Given the description of an element on the screen output the (x, y) to click on. 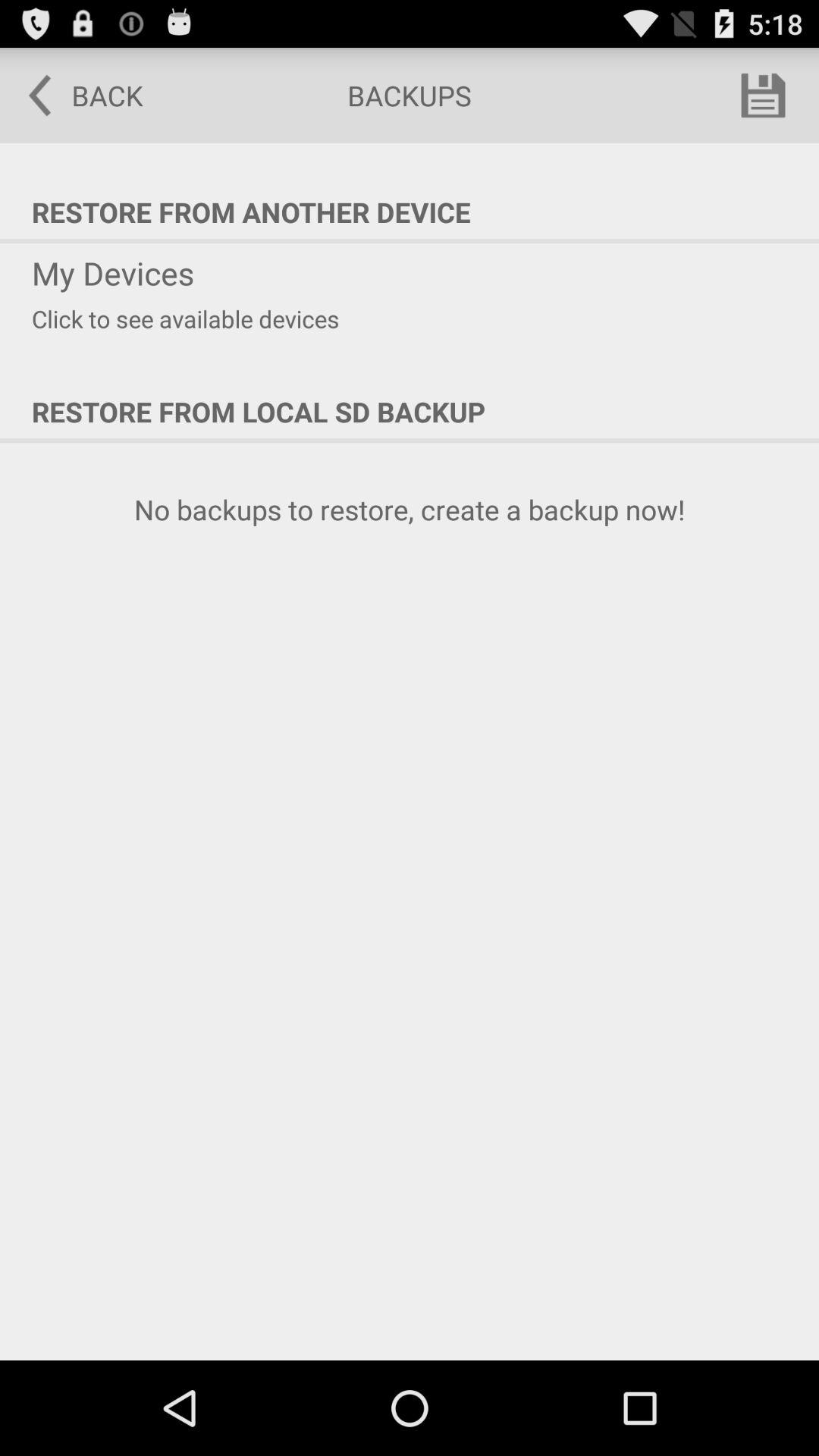
save information (763, 95)
